Given the description of an element on the screen output the (x, y) to click on. 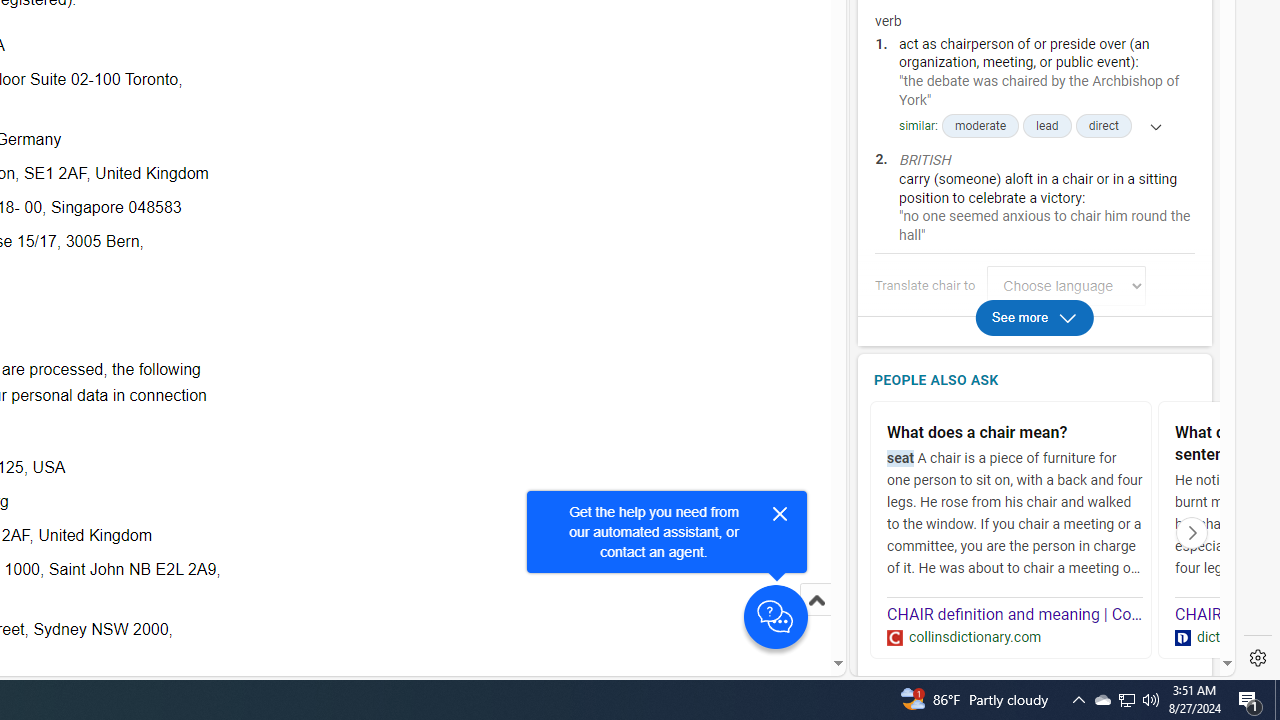
Link for logging (1072, 285)
Scroll to top (816, 620)
What does a chair mean? (1015, 433)
lead (1047, 125)
